Given the description of an element on the screen output the (x, y) to click on. 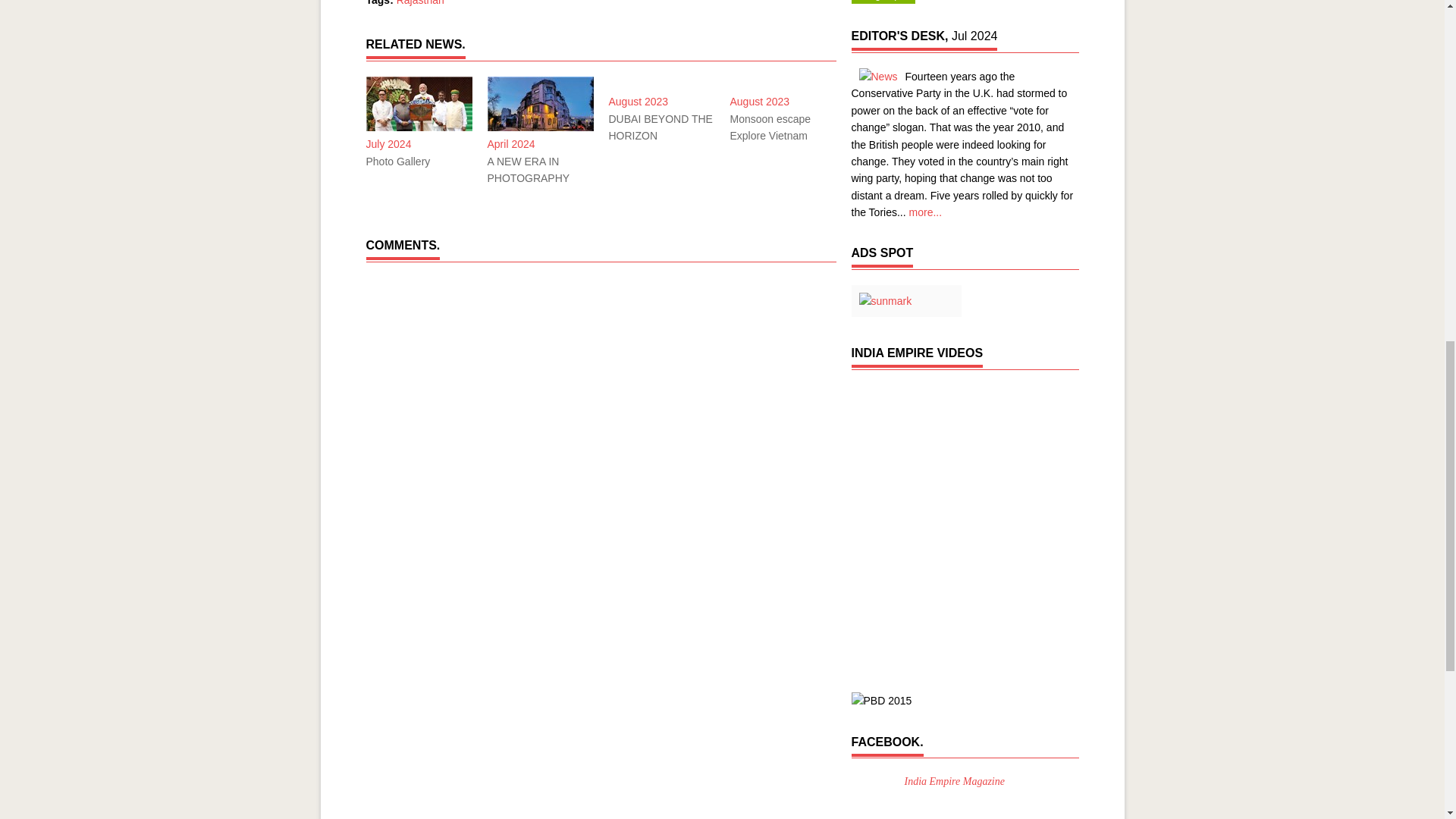
A NEW ERA IN PHOTOGRAPHY (539, 170)
DUBAI BEYOND THE HORIZON (661, 127)
Rajasthan (420, 2)
Photo Gallery (418, 161)
Sign up (882, 2)
Sign up (882, 2)
Monsoon escape Explore Vietnam (782, 127)
